Given the description of an element on the screen output the (x, y) to click on. 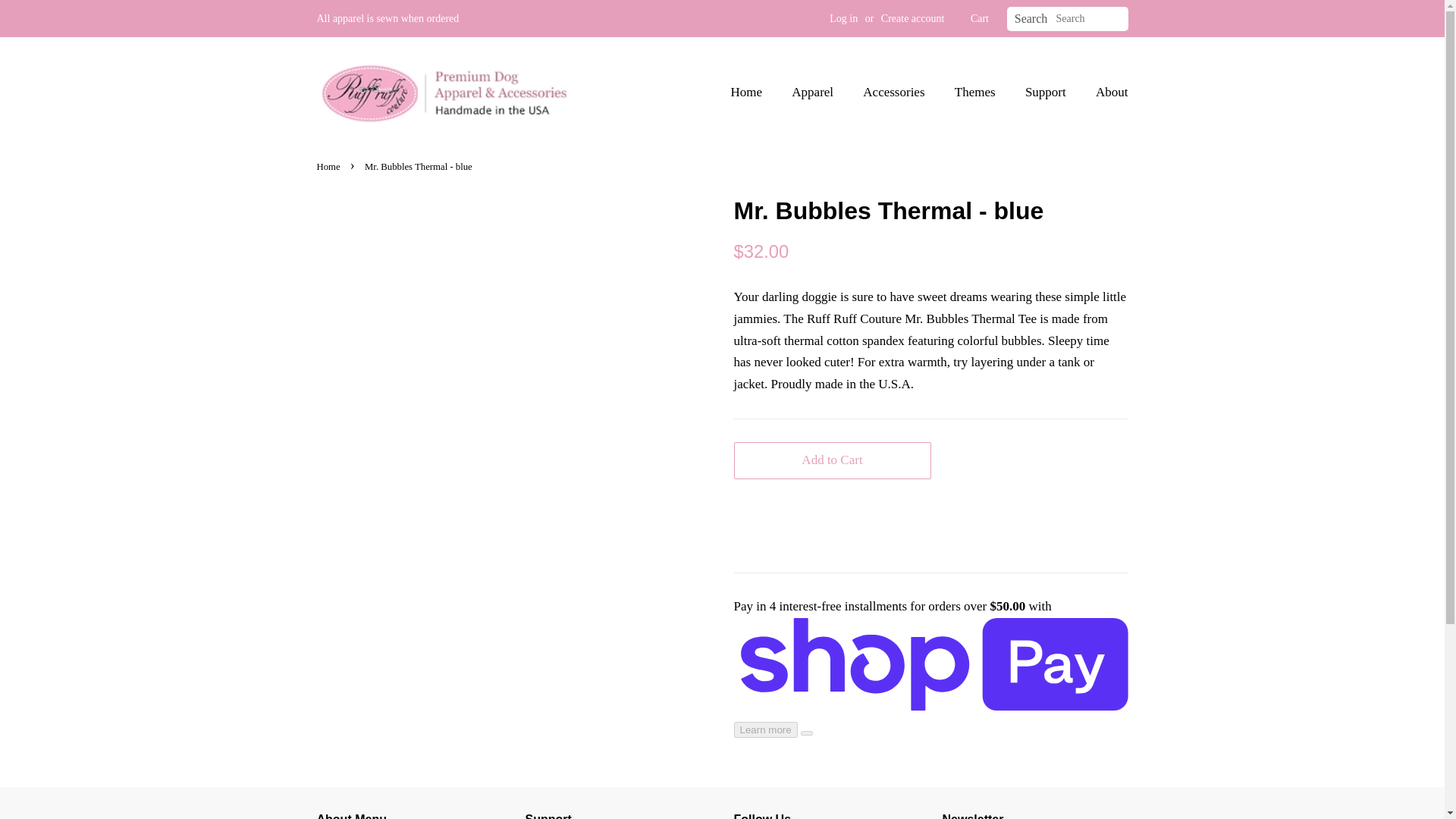
Cart (979, 18)
Search (1031, 18)
Back to the frontpage (330, 166)
Log in (843, 18)
Create account (912, 18)
